Given the description of an element on the screen output the (x, y) to click on. 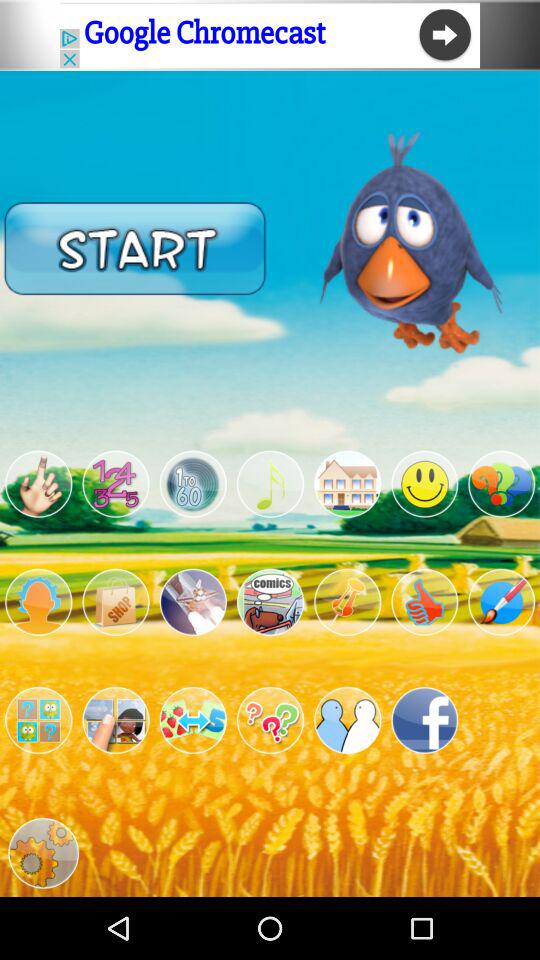
open settings (43, 853)
